Given the description of an element on the screen output the (x, y) to click on. 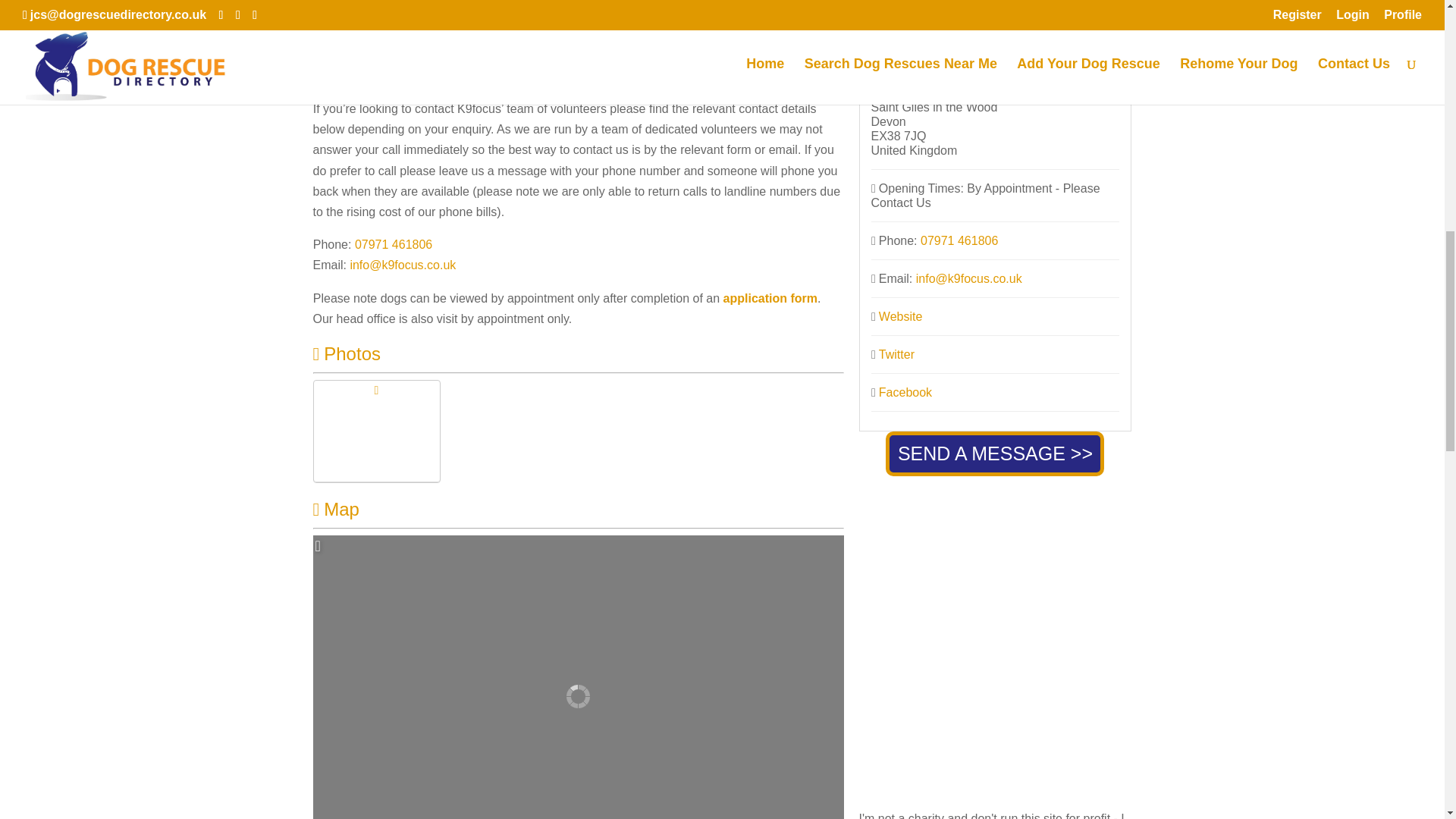
application form (769, 297)
07971 461806 (958, 240)
Map (335, 508)
Facebook (905, 391)
Website (901, 316)
Photos (346, 353)
07971 461806 (393, 244)
Twitter (896, 354)
Contact us (566, 65)
